Given the description of an element on the screen output the (x, y) to click on. 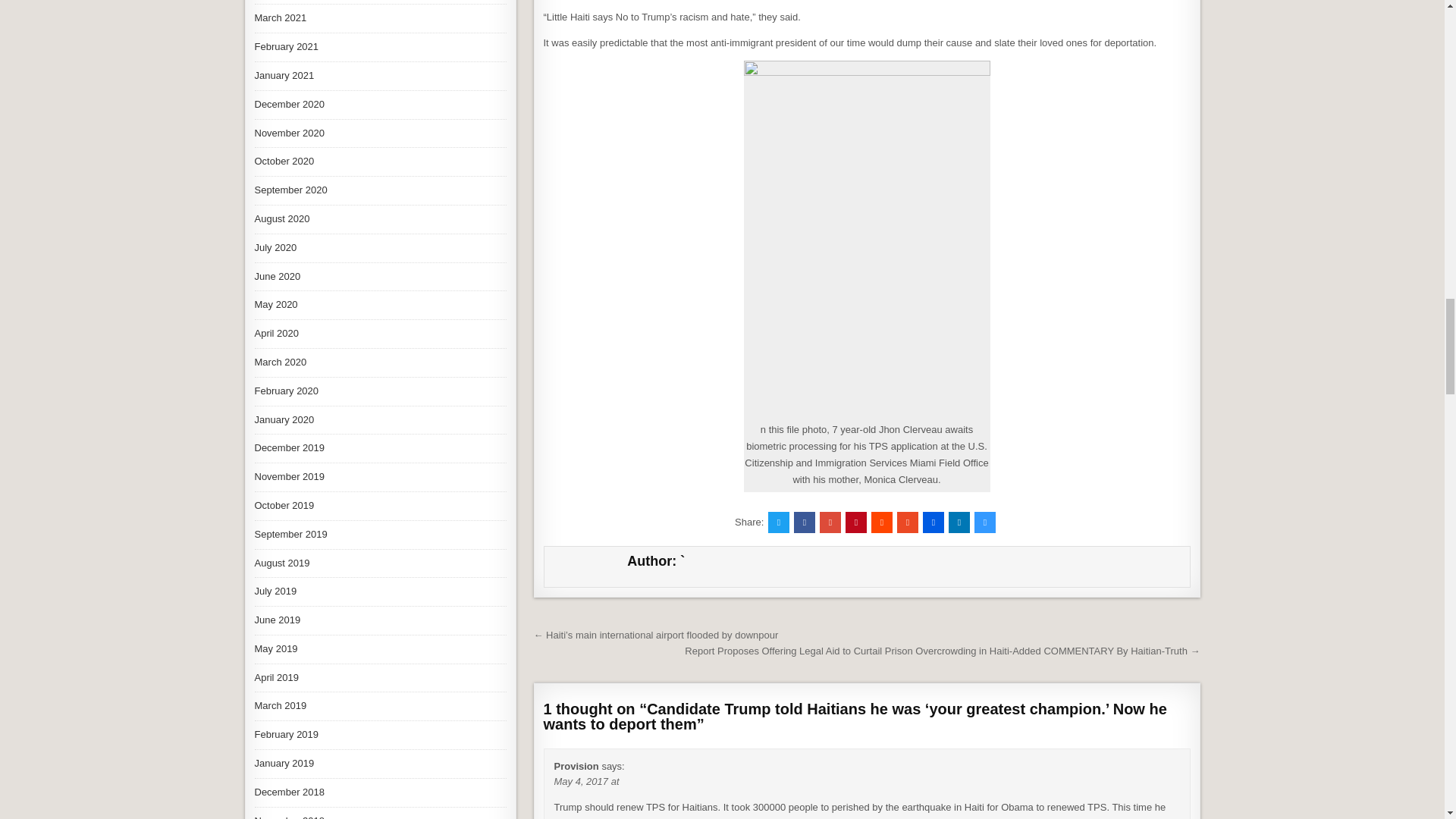
Tweet This! (778, 522)
Share this on Delicious (984, 522)
Share this on Pinterest (855, 522)
May 4, 2017 at (585, 781)
Share this on Digg (933, 522)
Share this on Reddit (881, 522)
Share this on Facebook (804, 522)
Share this on Stumbleupon (907, 522)
Share this on Linkedin (959, 522)
